Given the description of an element on the screen output the (x, y) to click on. 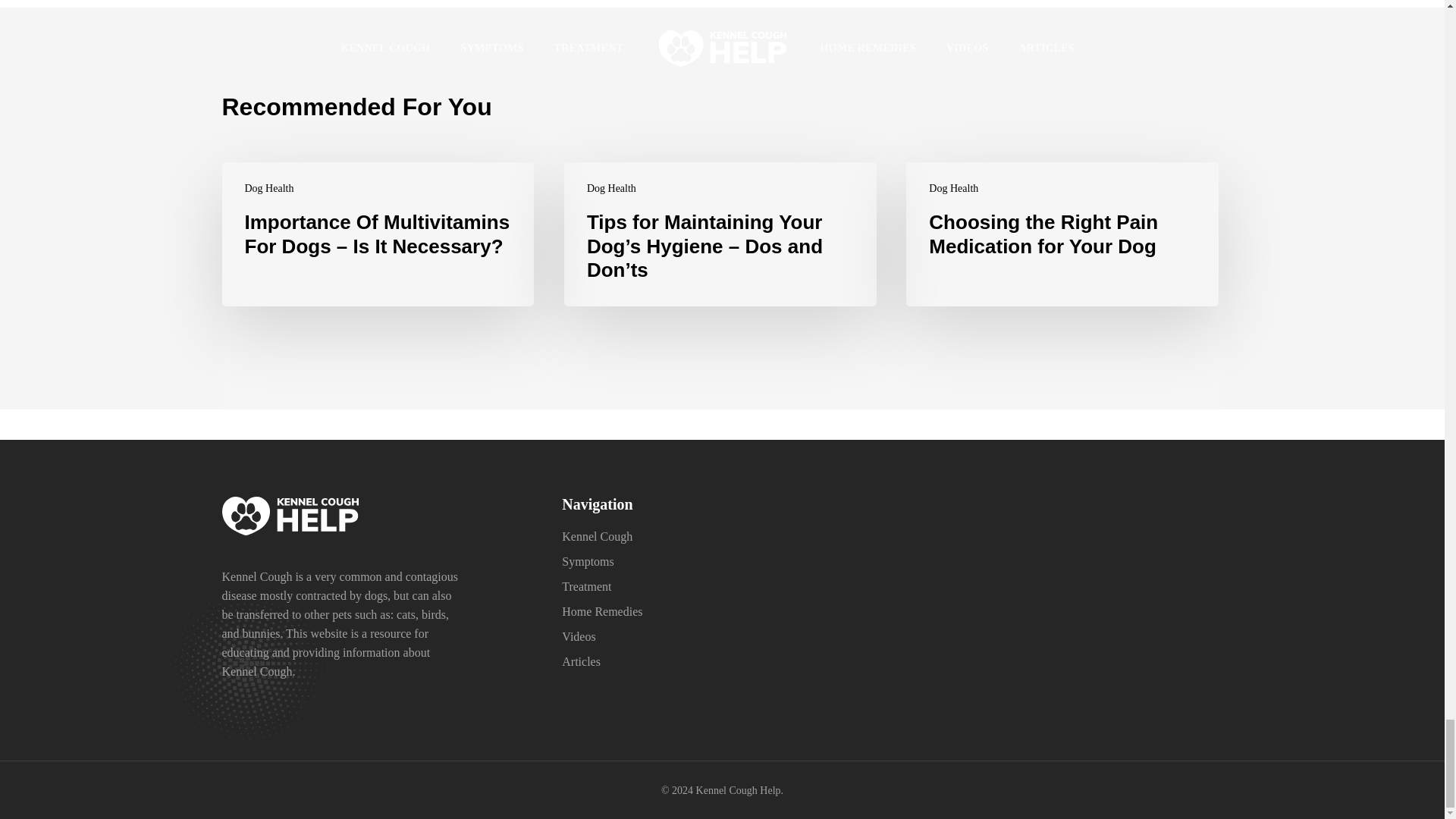
Articles (580, 661)
Dog Health (953, 187)
Dog Health (269, 187)
Home Remedies (602, 611)
Treatment (586, 585)
Symptoms (587, 561)
Videos (578, 635)
Kennel Cough (596, 535)
Dog Health (611, 187)
